Given the description of an element on the screen output the (x, y) to click on. 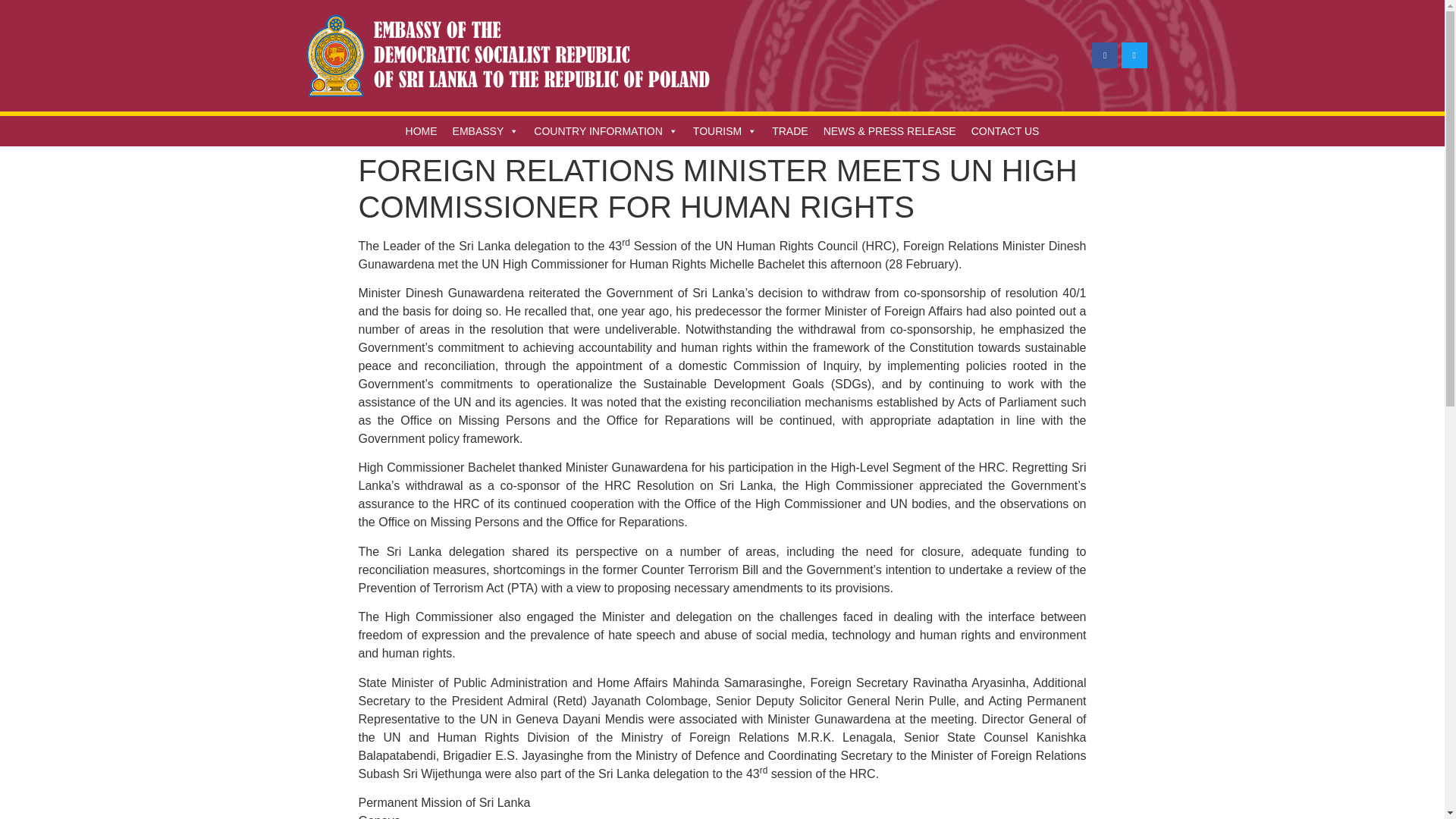
COUNTRY INFORMATION (605, 131)
TOURISM (724, 131)
HOME (421, 131)
EMBASSY (486, 131)
